Given the description of an element on the screen output the (x, y) to click on. 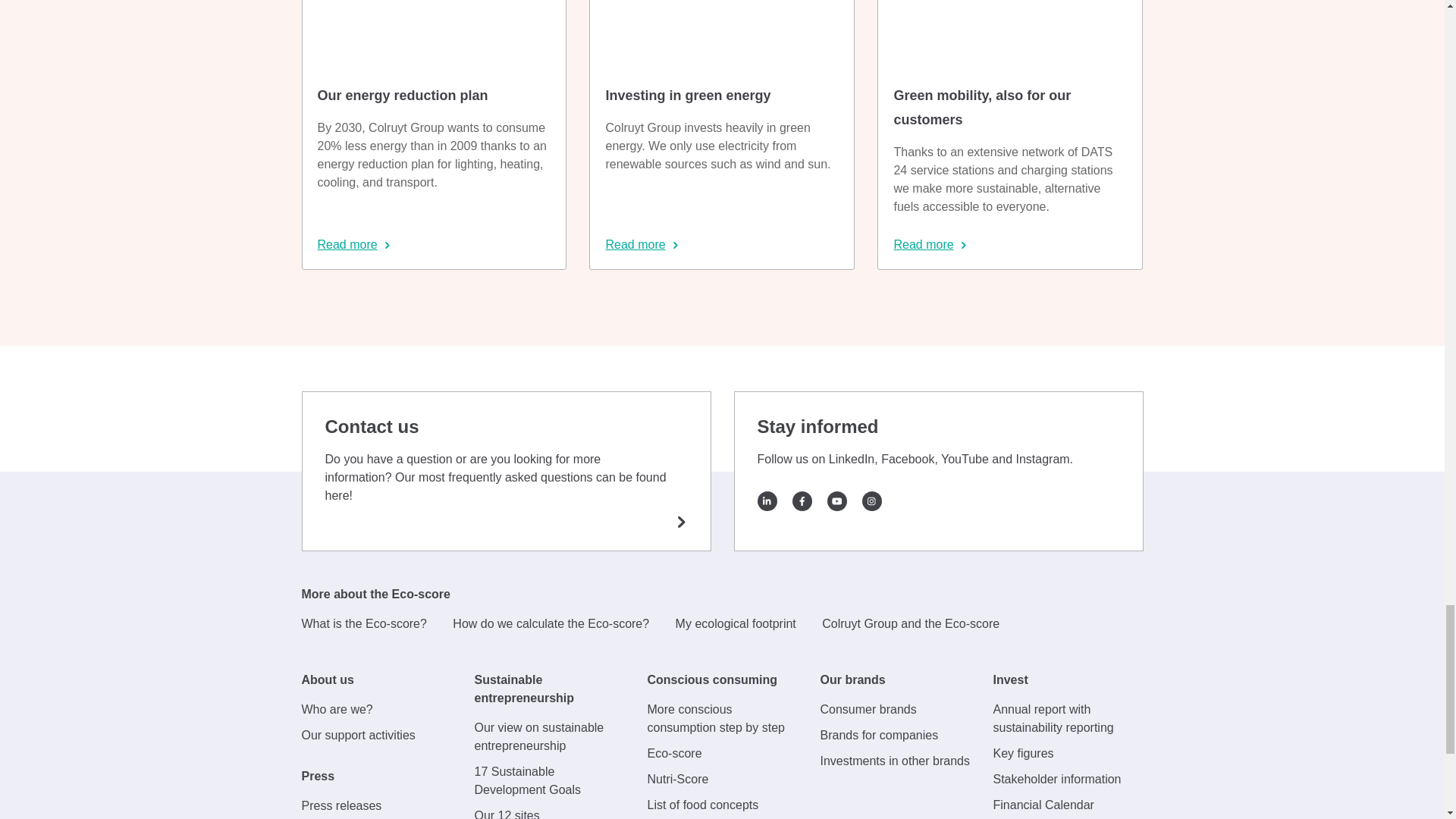
YouTube (836, 501)
LinkedIn (766, 501)
Facebook (801, 501)
Instagram (870, 501)
